Given the description of an element on the screen output the (x, y) to click on. 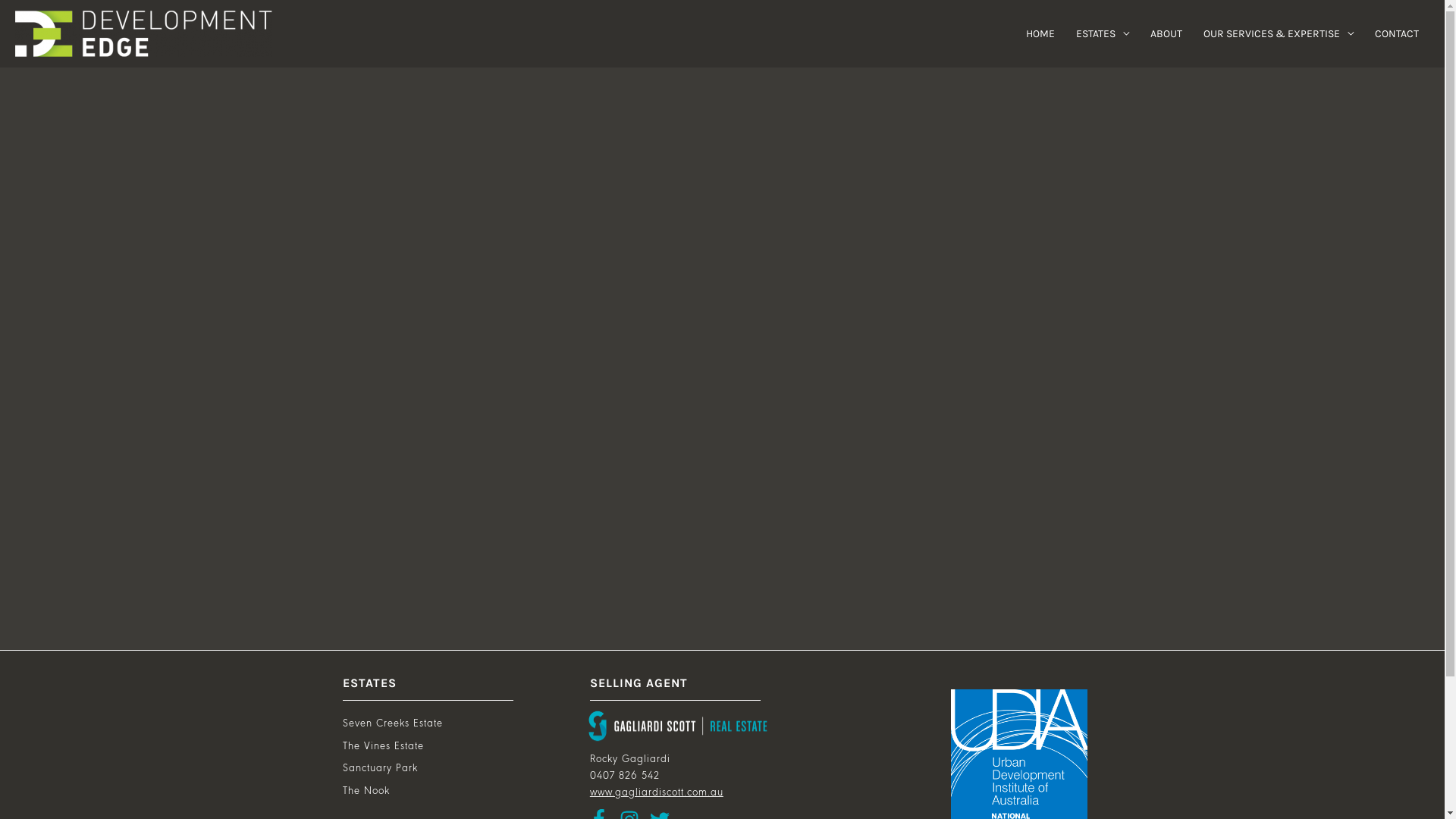
ESTATES Element type: text (1102, 33)
ABOUT Element type: text (1165, 33)
Gagliardi Scott Real Estate Element type: hover (677, 725)
www.gagliardiscott.com.au Element type: text (656, 792)
OUR SERVICES & EXPERTISE Element type: text (1278, 33)
Seven Creeks Estate Element type: text (392, 723)
Sanctuary Park Element type: text (379, 768)
HOME Element type: text (1040, 33)
The Nook Element type: text (365, 791)
CONTACT Element type: text (1396, 33)
The Vines Estate Element type: text (382, 746)
